Given the description of an element on the screen output the (x, y) to click on. 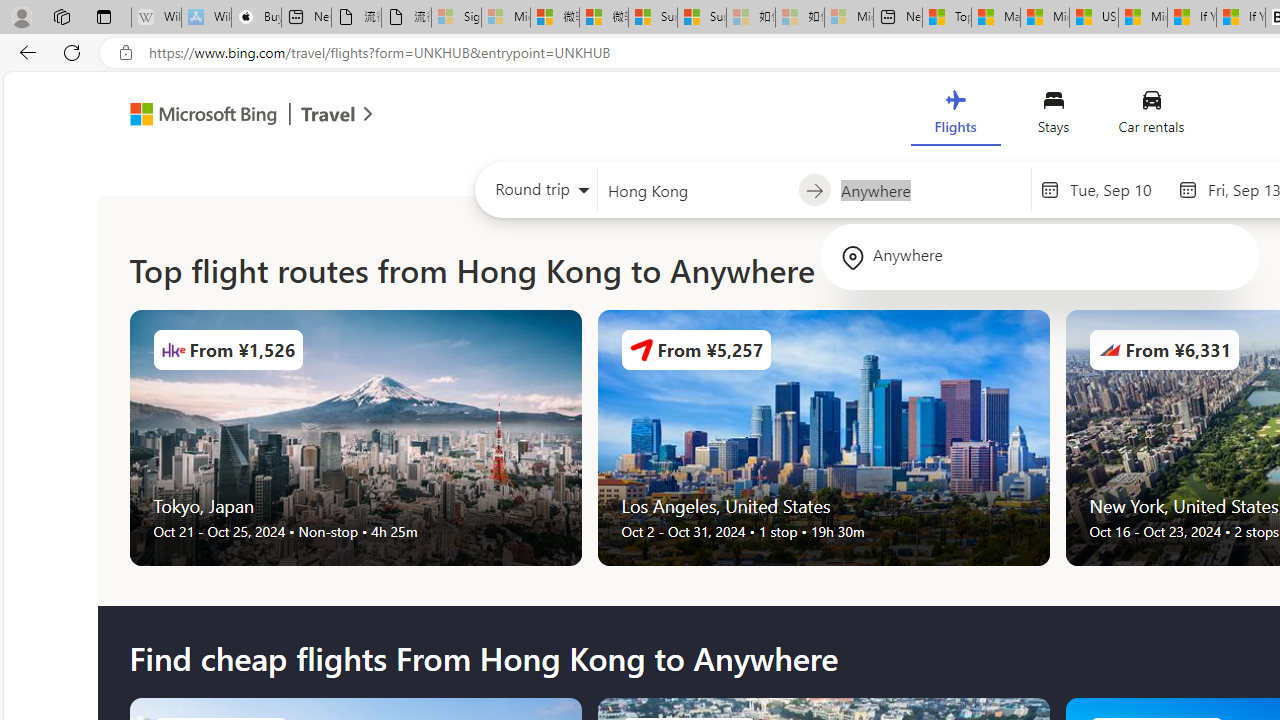
Microsoft Bing Travel (229, 116)
Going to? (930, 190)
Class: msft-bing-logo msft-bing-logo-desktop (198, 114)
Leaving from? (697, 190)
Anywhere (1039, 256)
